Given the description of an element on the screen output the (x, y) to click on. 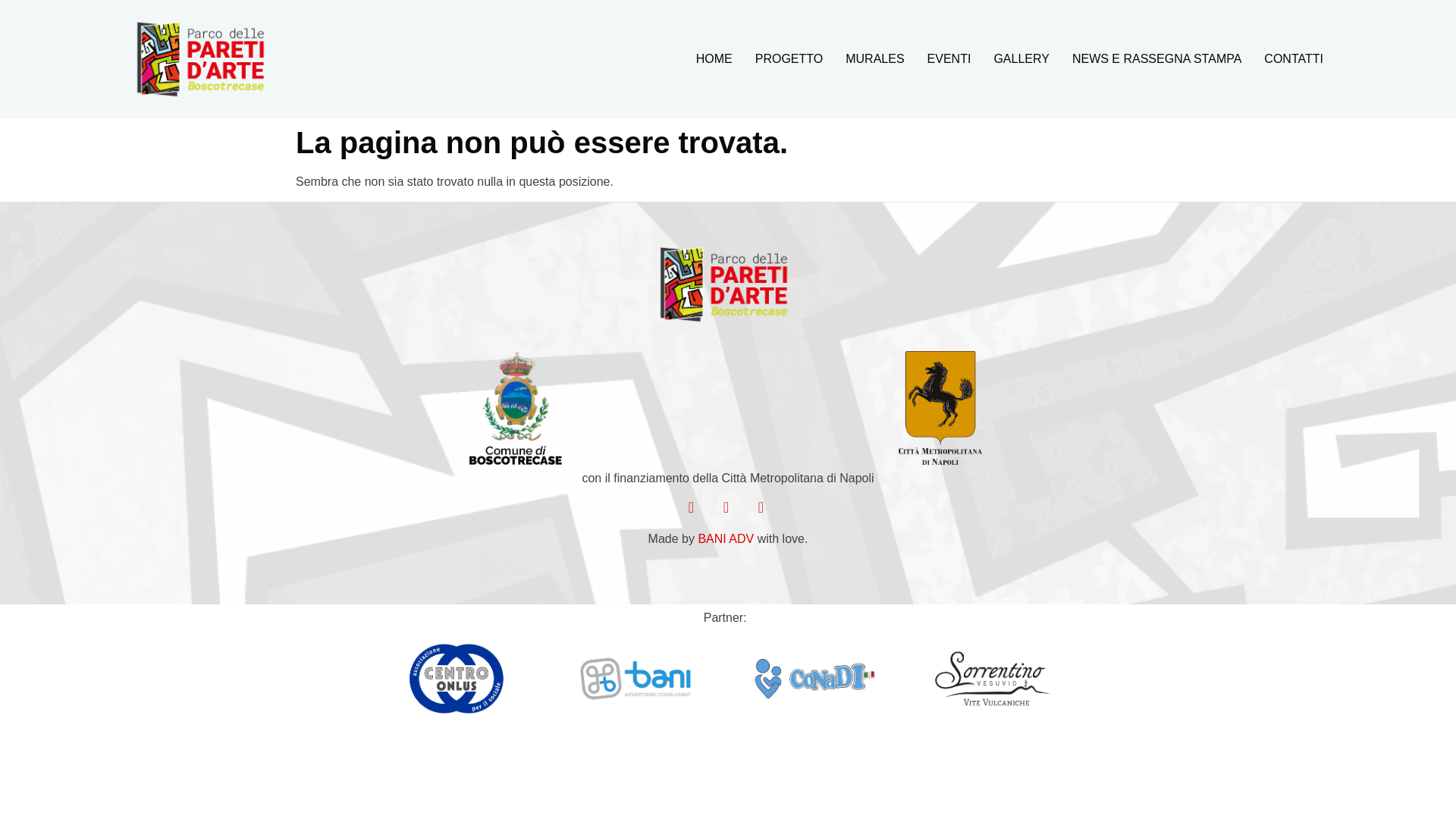
PROGETTO (789, 58)
GALLERY (1021, 58)
NEWS E RASSEGNA STAMPA (1156, 58)
MURALES (874, 58)
CONTATTI (1293, 58)
BANI ADV (725, 538)
EVENTI (948, 58)
HOME (714, 58)
